Given the description of an element on the screen output the (x, y) to click on. 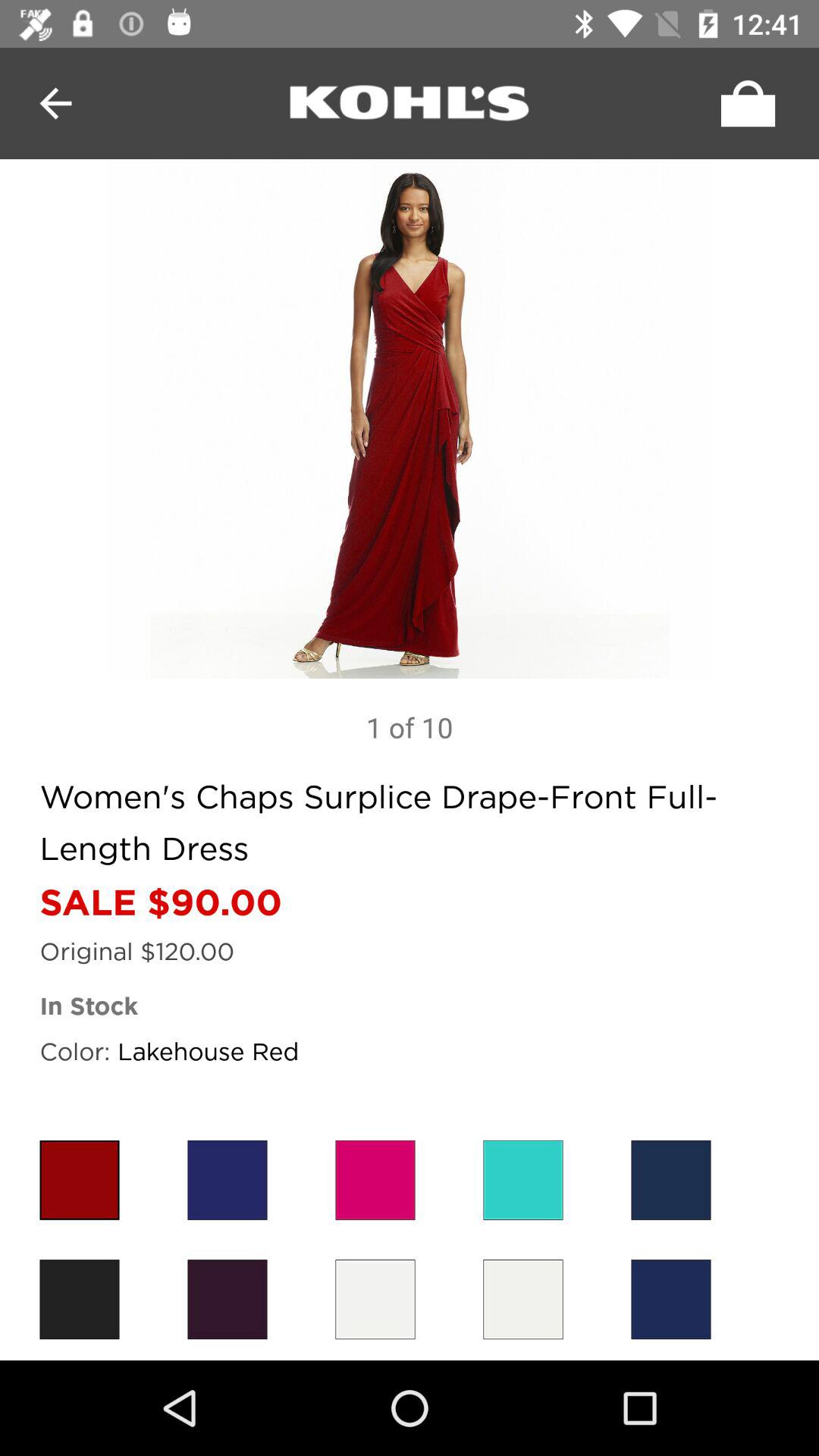
colour choosing (523, 1179)
